Given the description of an element on the screen output the (x, y) to click on. 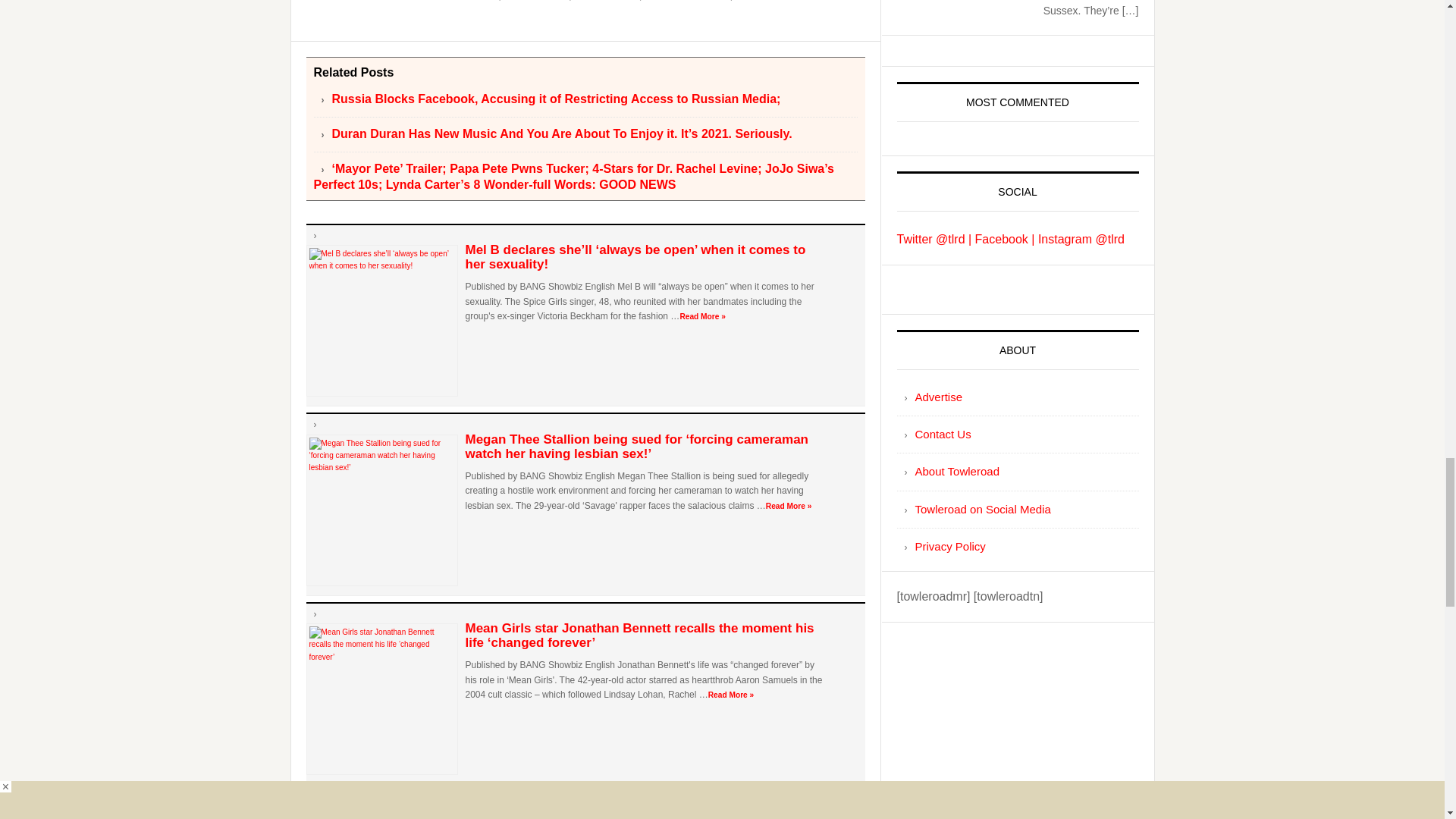
NEWS (748, 0)
ART AND DESIGN (459, 0)
COPENHAGEN (536, 0)
GLOBAL WARMING (687, 0)
COPENHAGEN (606, 0)
